Given the description of an element on the screen output the (x, y) to click on. 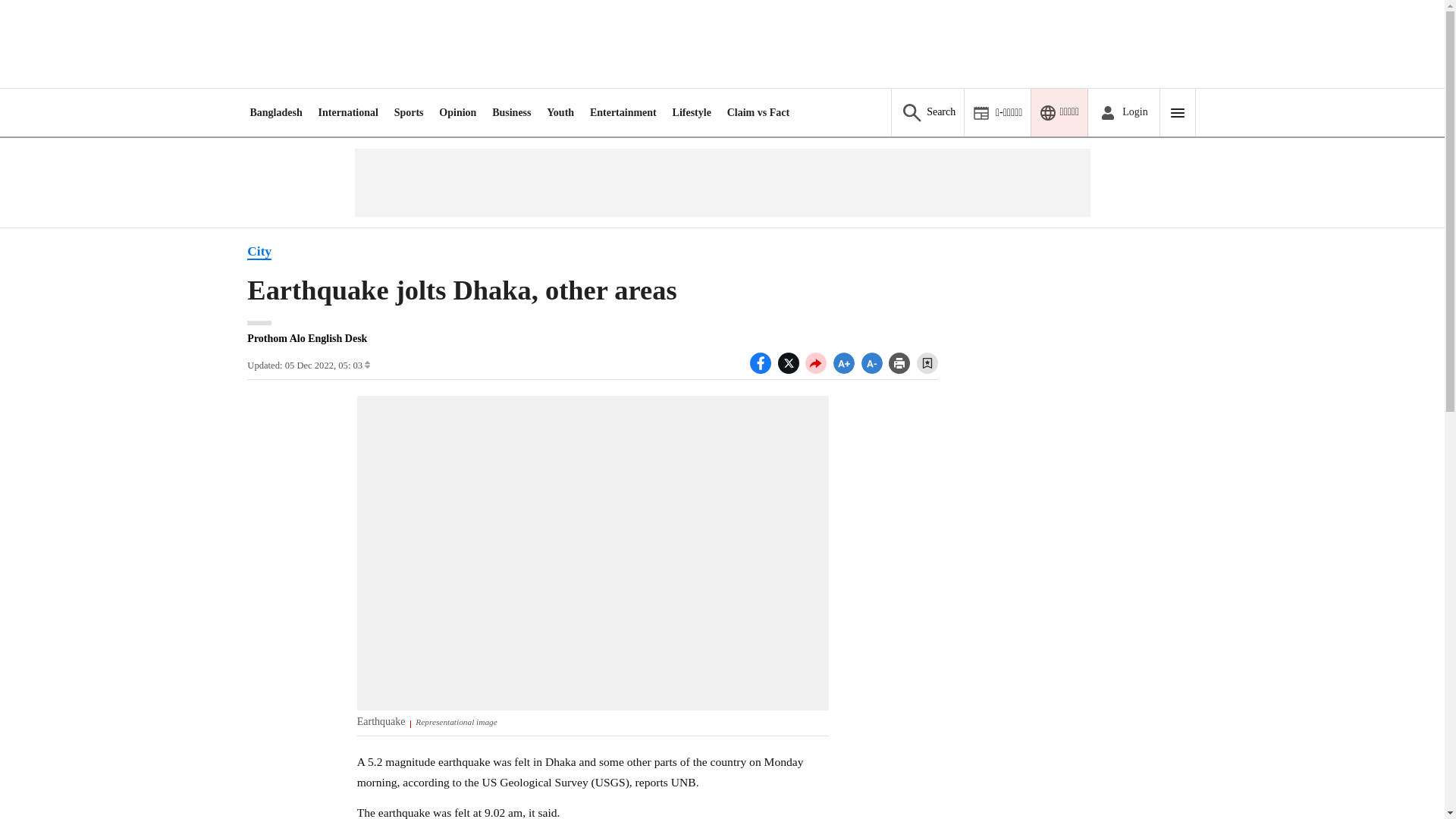
Business (511, 112)
International (348, 112)
Sports (408, 112)
Claim vs Fact (757, 112)
Lifestyle (691, 112)
City (258, 252)
Opinion (457, 112)
Youth (560, 112)
Bangladesh (274, 112)
Entertainment (622, 112)
